Given the description of an element on the screen output the (x, y) to click on. 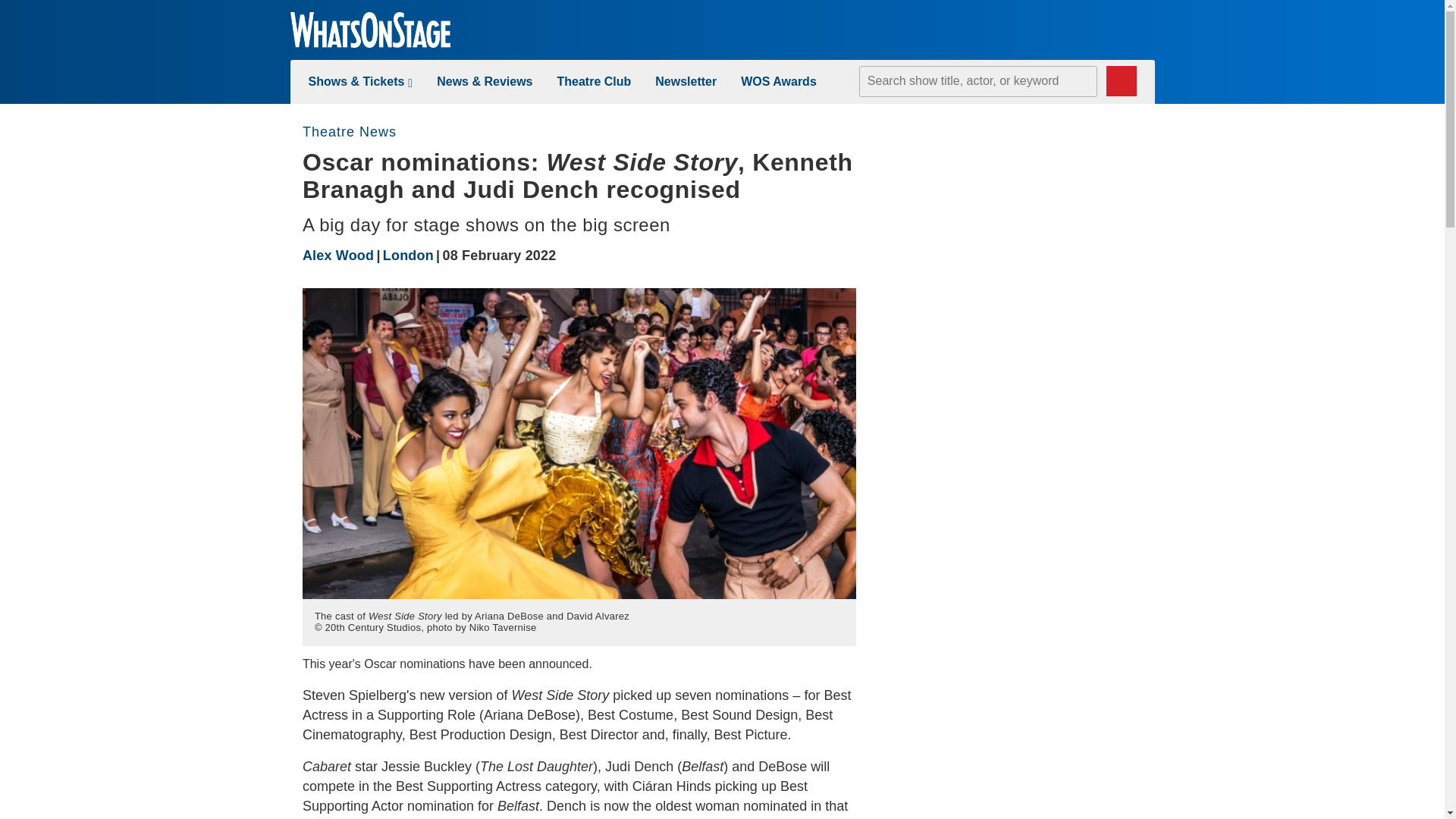
WOS Awards (778, 81)
new-and-reviews-link (484, 81)
Newsletter (685, 81)
Theatre Club (593, 81)
